Given the description of an element on the screen output the (x, y) to click on. 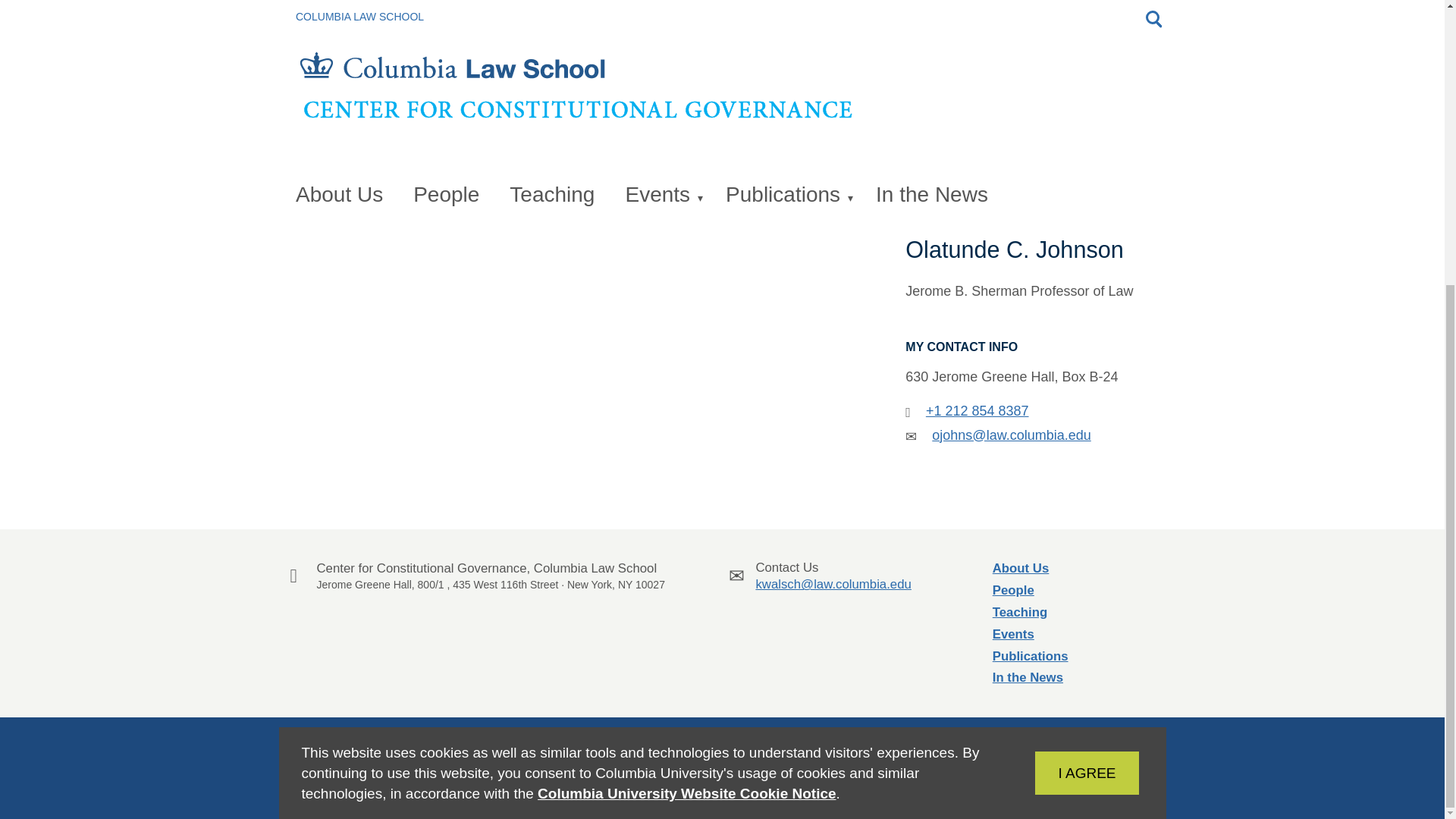
About Us (1020, 568)
Teaching (1019, 612)
Columbia University Website Cookie Notice (686, 365)
Publications (1030, 655)
People (1063, 344)
Events (1012, 590)
Built using Columbia Sites (1012, 634)
Nondiscrimination (1092, 738)
In the News (924, 738)
Careers (1027, 677)
Accessibility (998, 738)
